Given the description of an element on the screen output the (x, y) to click on. 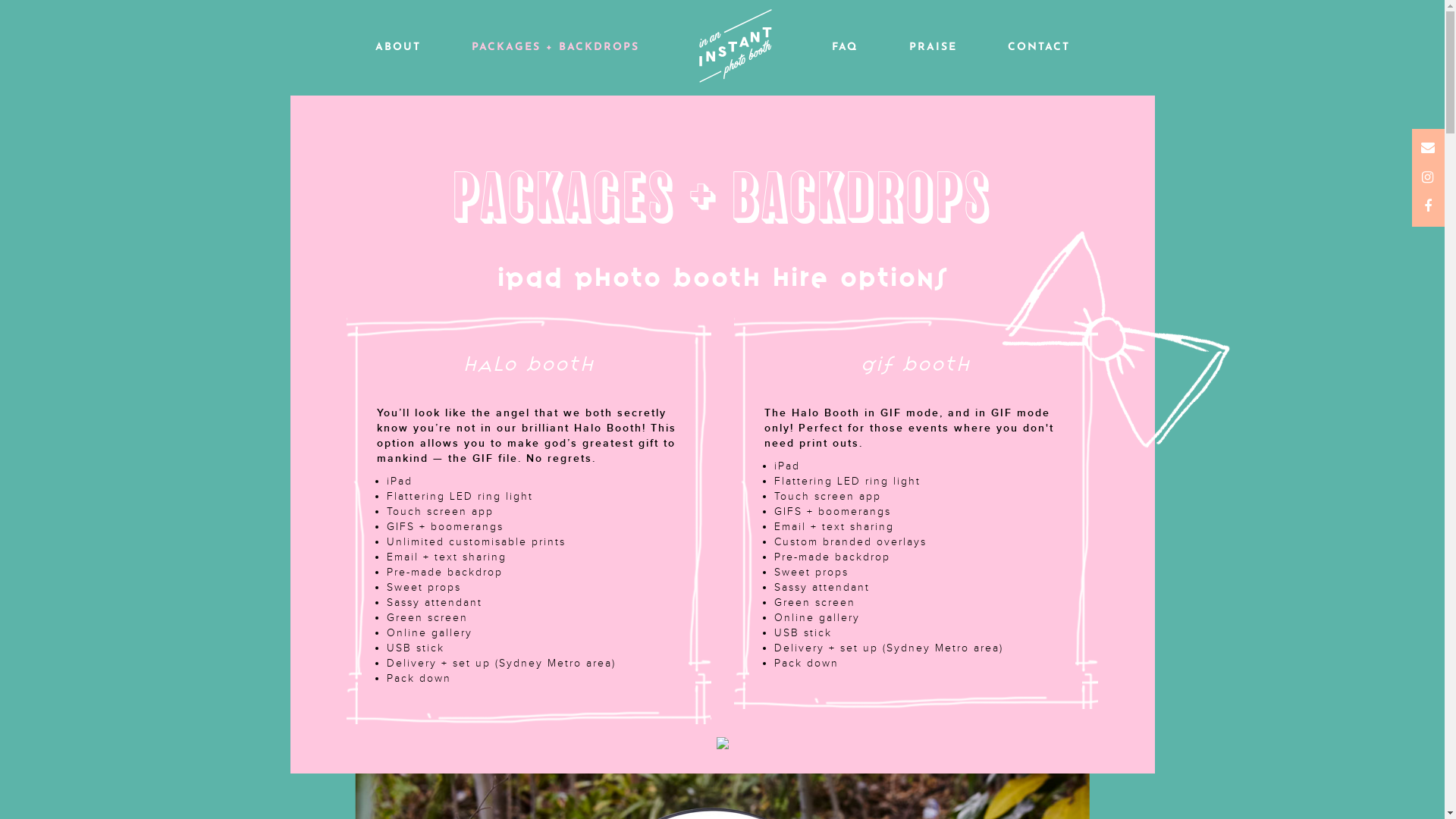
PRAISE Element type: text (932, 47)
ABOUT Element type: text (396, 47)
FAQ Element type: text (844, 47)
CONTACT Element type: text (1038, 47)
PACKAGES + BACKDROPS Element type: text (555, 47)
